Given the description of an element on the screen output the (x, y) to click on. 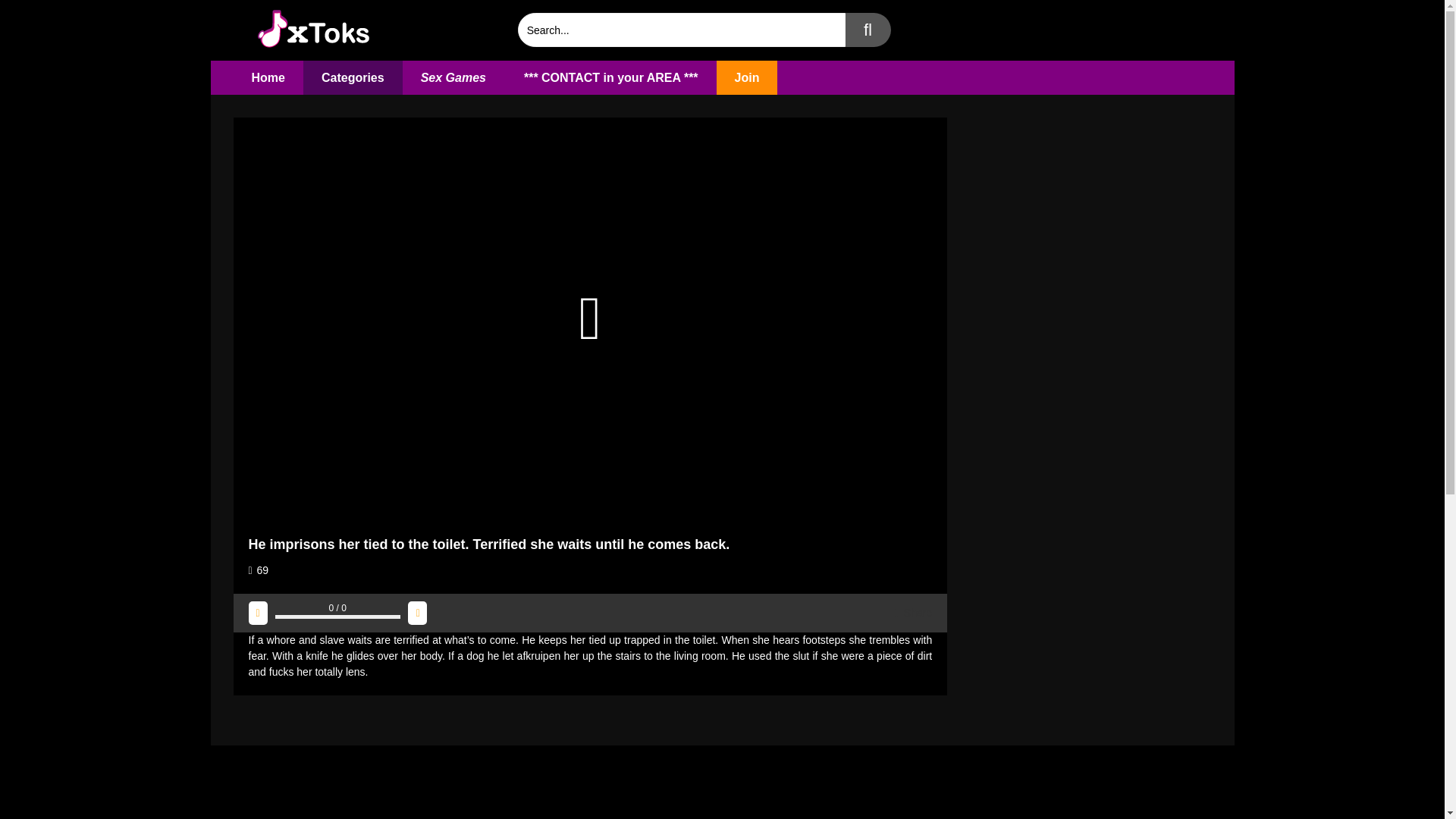
homemade porn (267, 77)
Porn categories (352, 77)
Categories (352, 77)
Share (913, 612)
Home (267, 77)
Sex Games (454, 77)
Join (746, 77)
fling,flirt,sex contacts (610, 77)
